Given the description of an element on the screen output the (x, y) to click on. 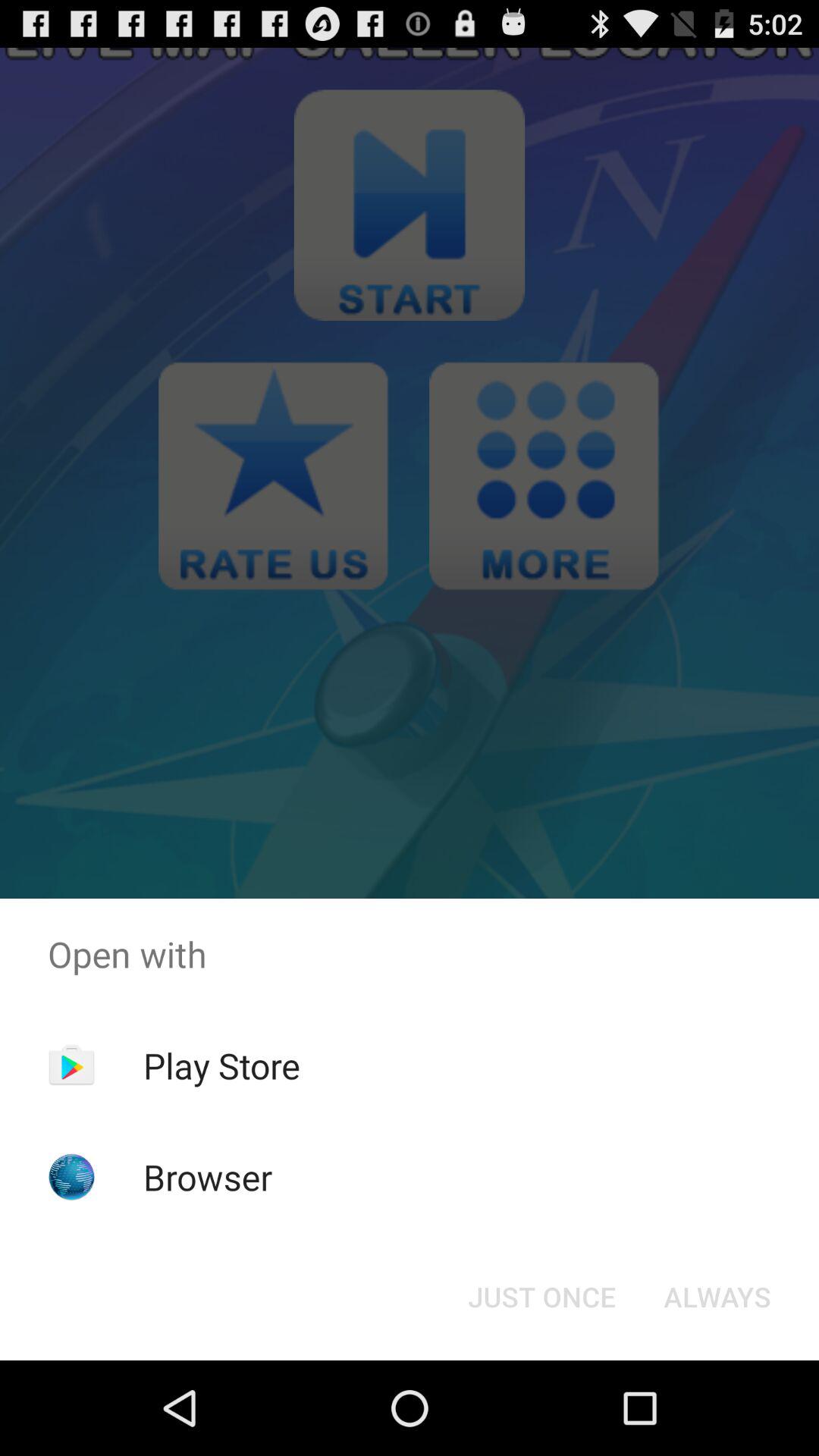
tap item to the right of just once item (717, 1296)
